Given the description of an element on the screen output the (x, y) to click on. 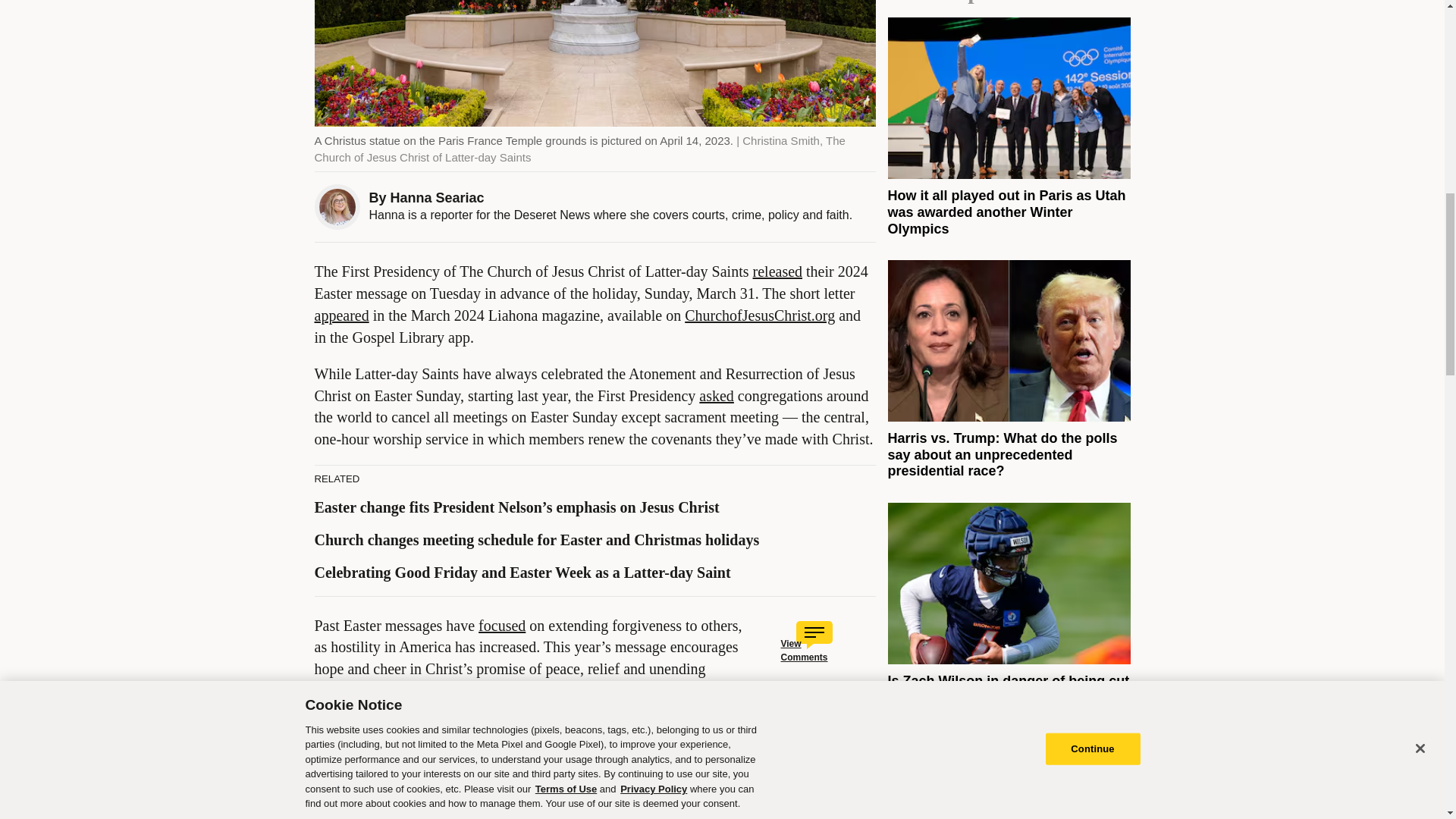
asked (715, 395)
appeared (341, 315)
President Dallin H. Oaks (389, 712)
President Russell M. Nelson (520, 690)
ChurchofJesusChrist.org (759, 315)
focused (502, 625)
Hanna Seariac (437, 197)
President Henry B. Eyring (575, 712)
released (777, 271)
